Given the description of an element on the screen output the (x, y) to click on. 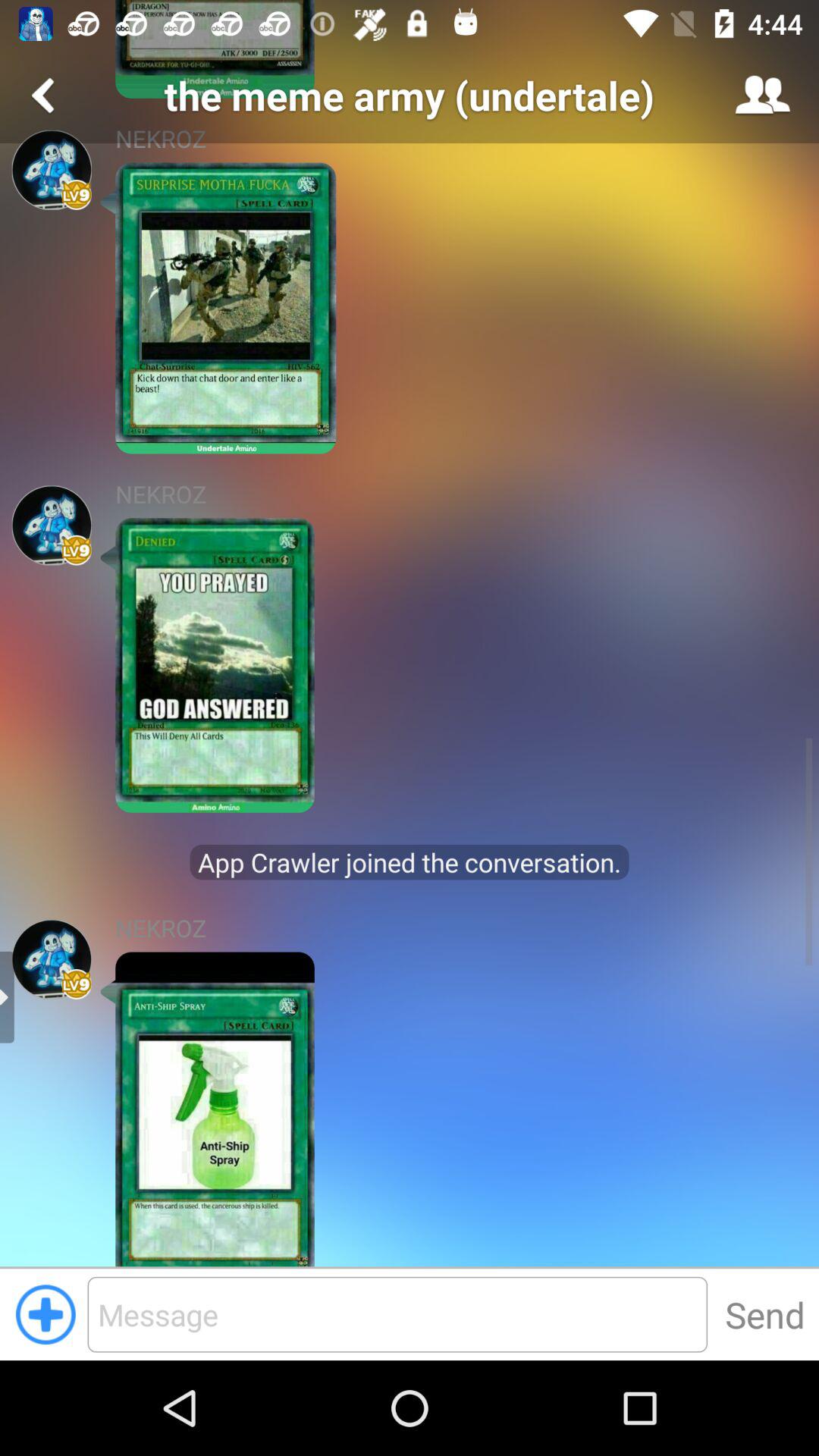
go back (45, 95)
